Given the description of an element on the screen output the (x, y) to click on. 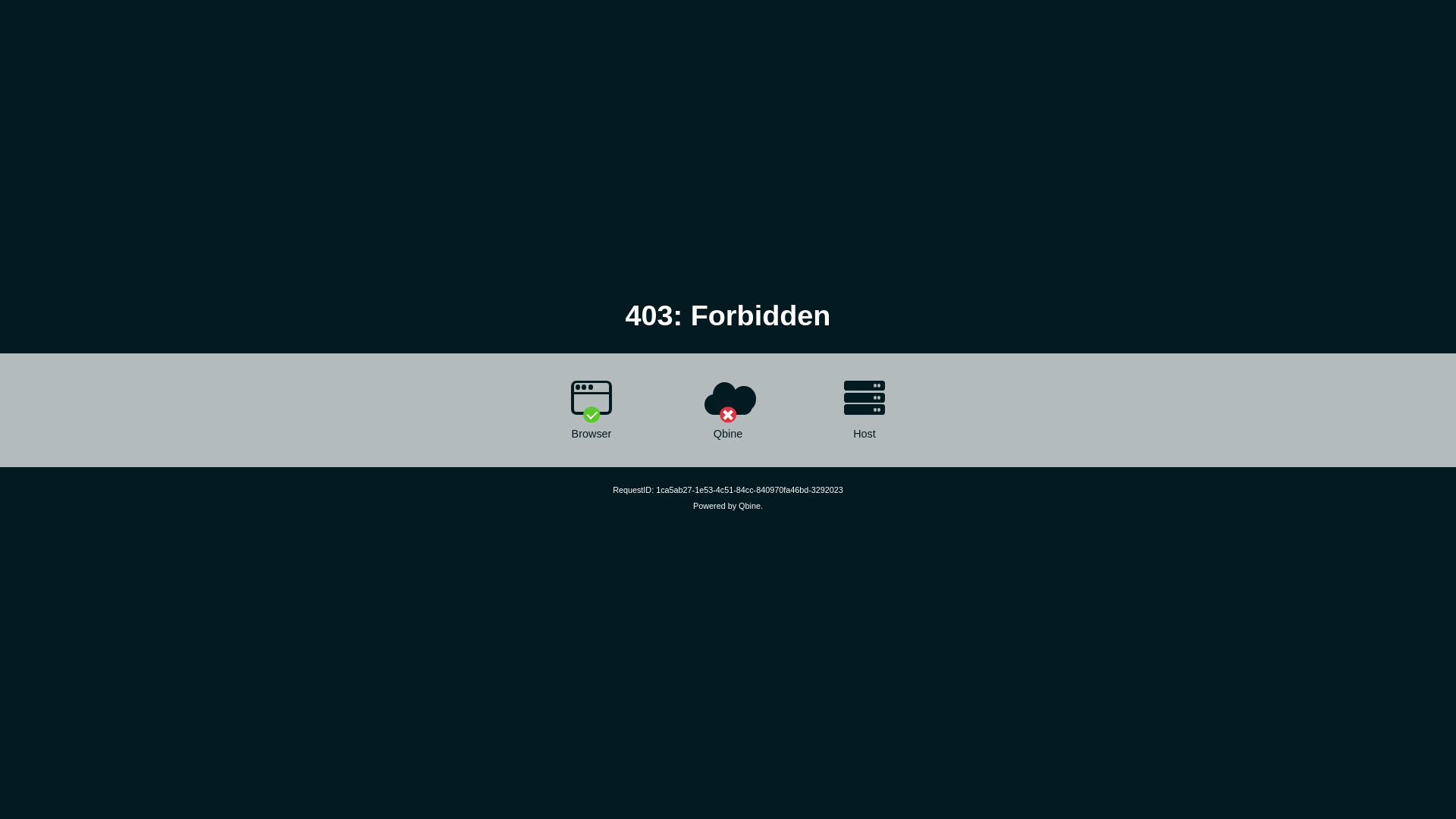
Qbine Element type: text (749, 505)
